Given the description of an element on the screen output the (x, y) to click on. 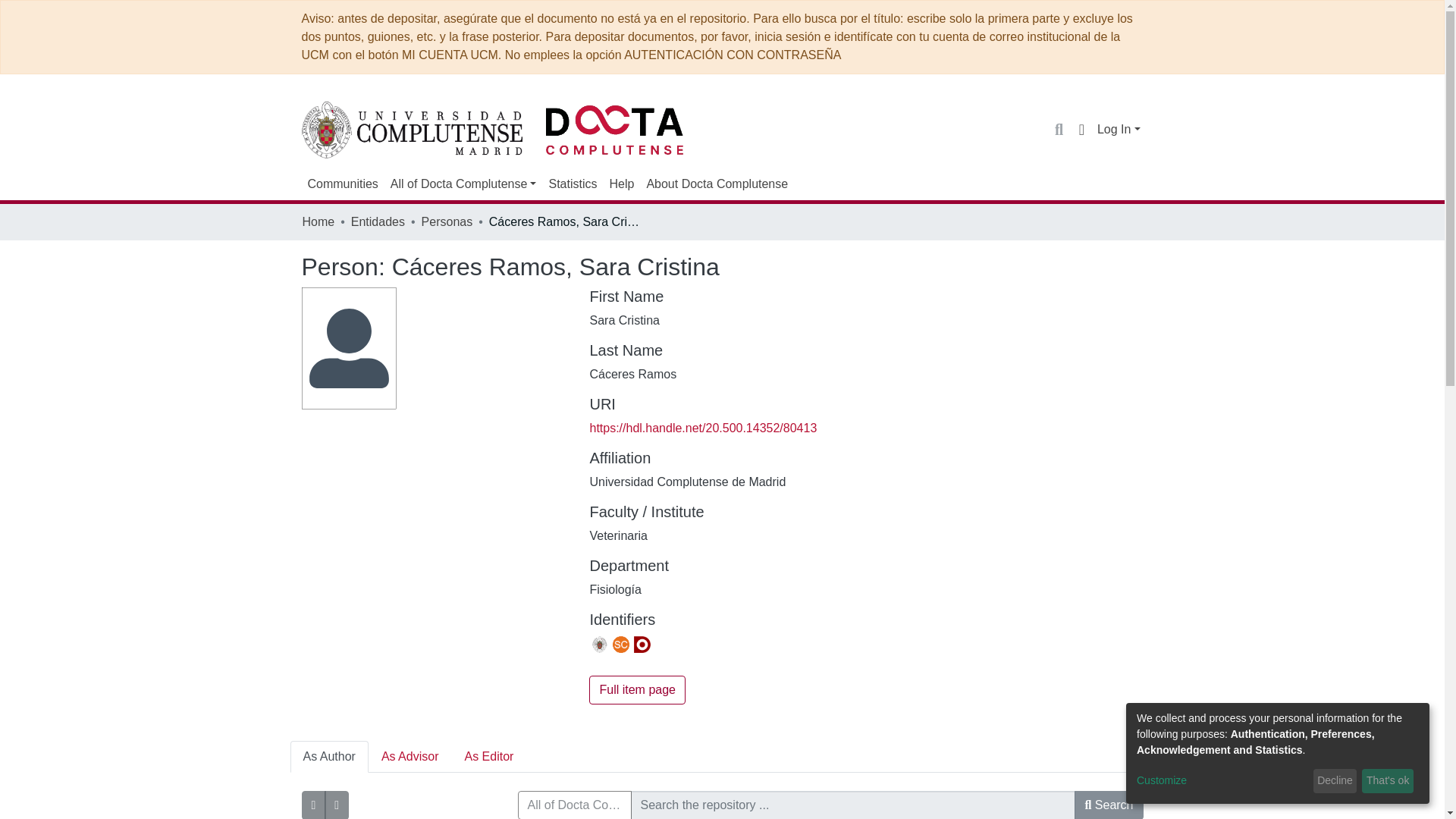
Home (317, 221)
Help (621, 183)
Statistics (571, 183)
As Editor (488, 757)
Communities (342, 183)
Dialnet ID (641, 644)
As Author (328, 757)
About Docta Complutense (716, 183)
Personas (447, 221)
Language switch (1081, 129)
Log In (1118, 128)
UCM identifier (599, 644)
Search (1058, 129)
All of Docta Complutense (463, 183)
Scopus Author ID (620, 644)
